Given the description of an element on the screen output the (x, y) to click on. 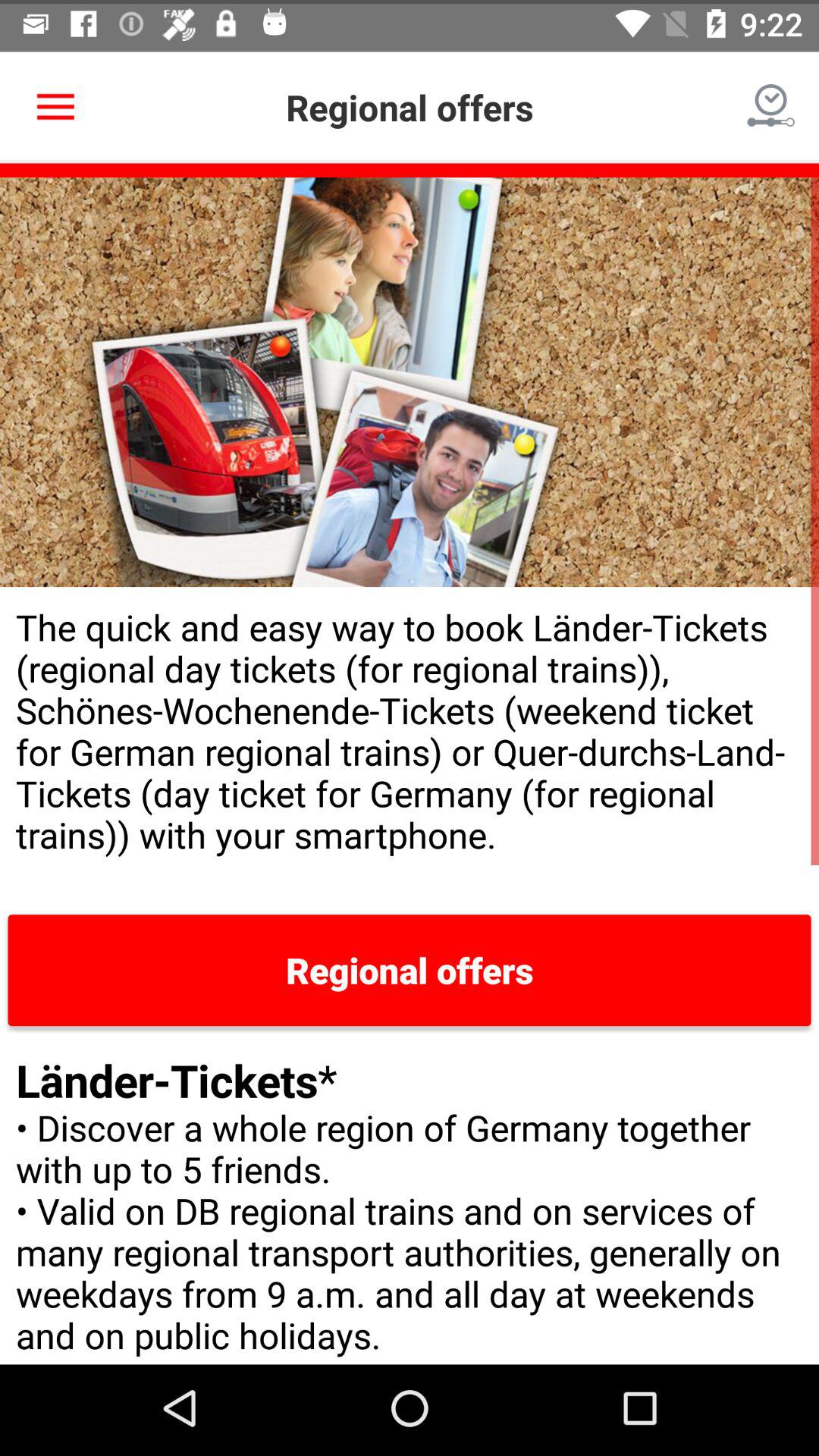
choose item at the top left corner (55, 103)
